Given the description of an element on the screen output the (x, y) to click on. 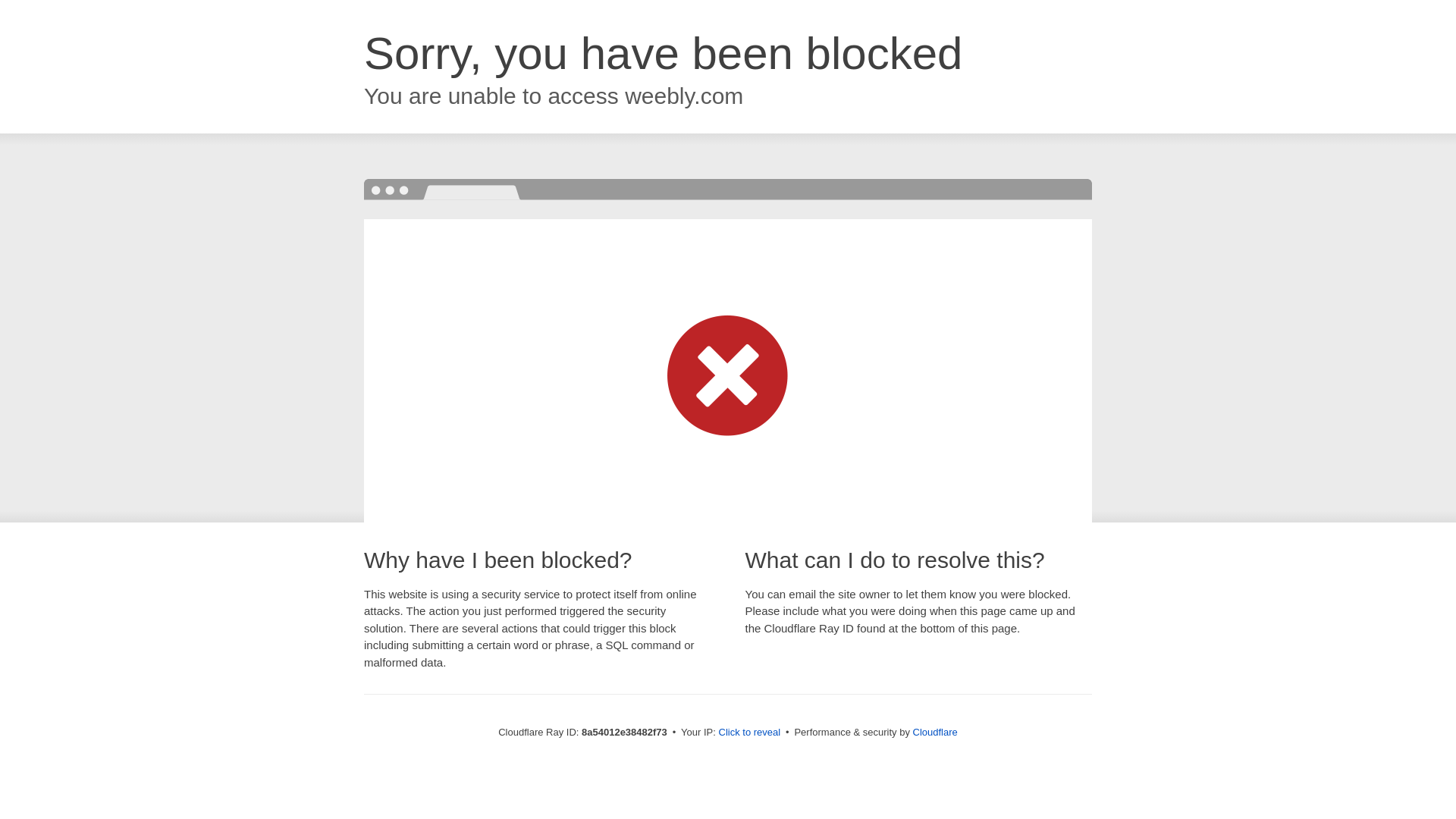
Click to reveal (749, 732)
Cloudflare (935, 731)
